Given the description of an element on the screen output the (x, y) to click on. 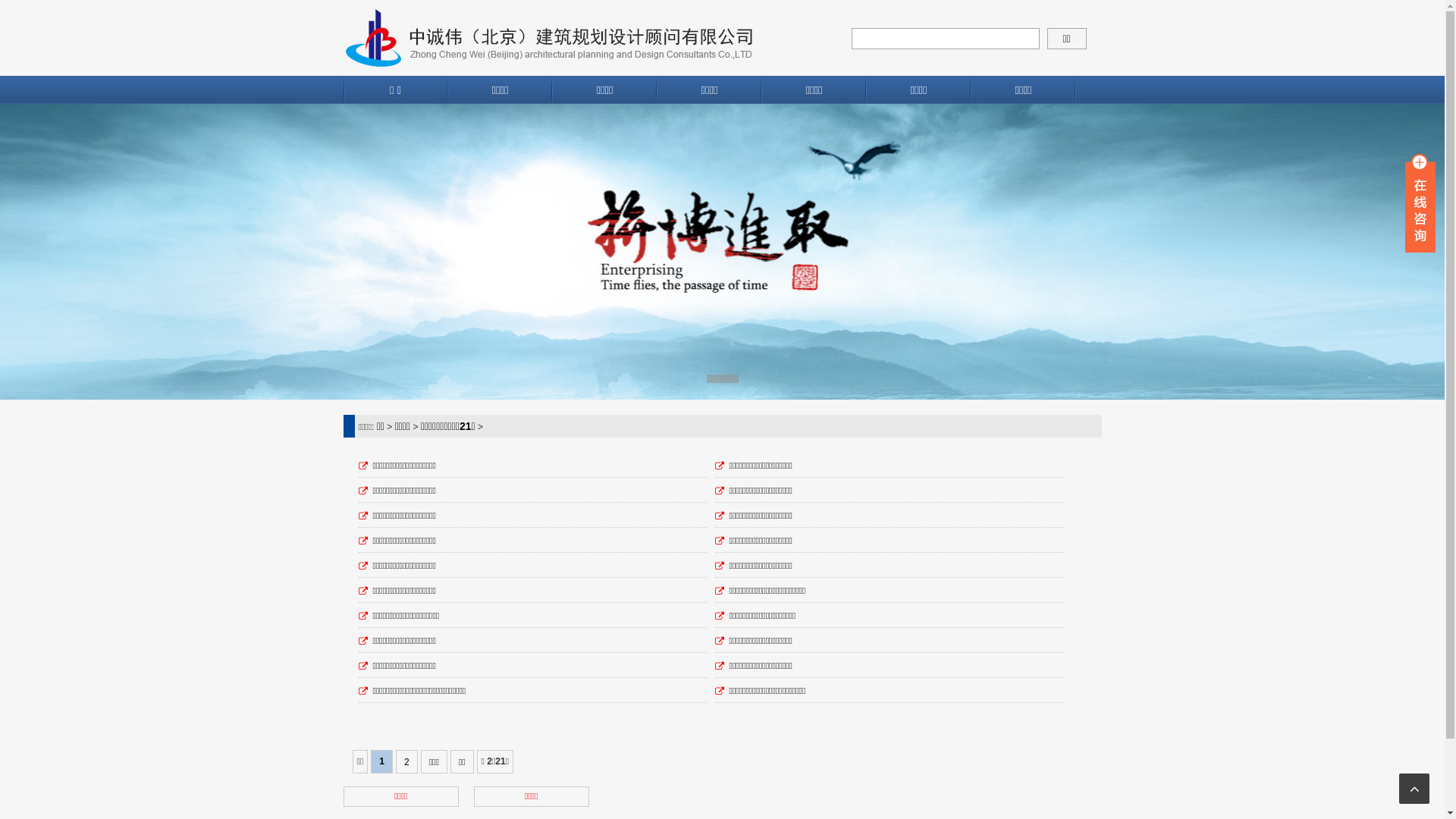
2 Element type: text (406, 761)
